Given the description of an element on the screen output the (x, y) to click on. 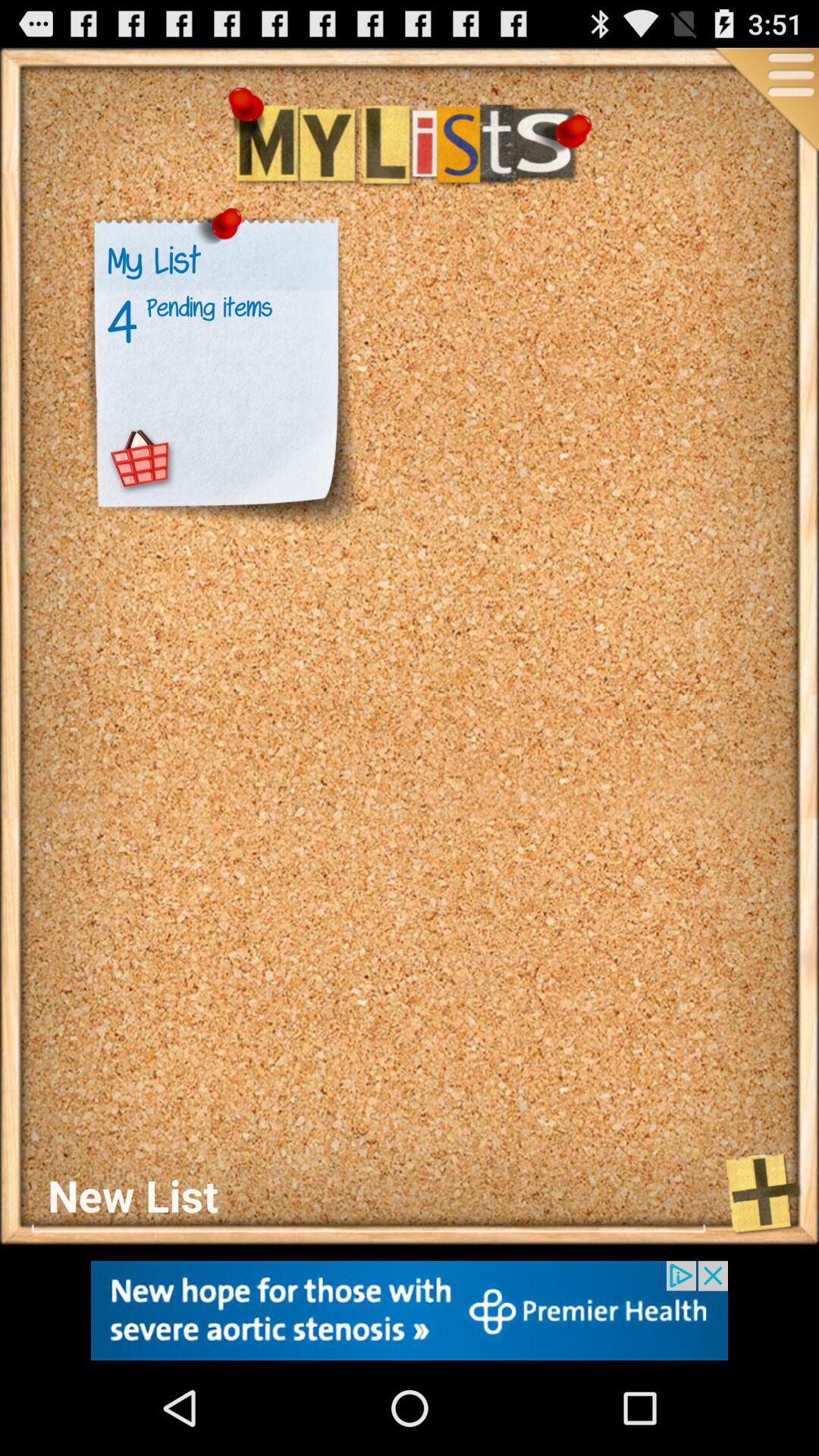
open advertisement (409, 1310)
